Given the description of an element on the screen output the (x, y) to click on. 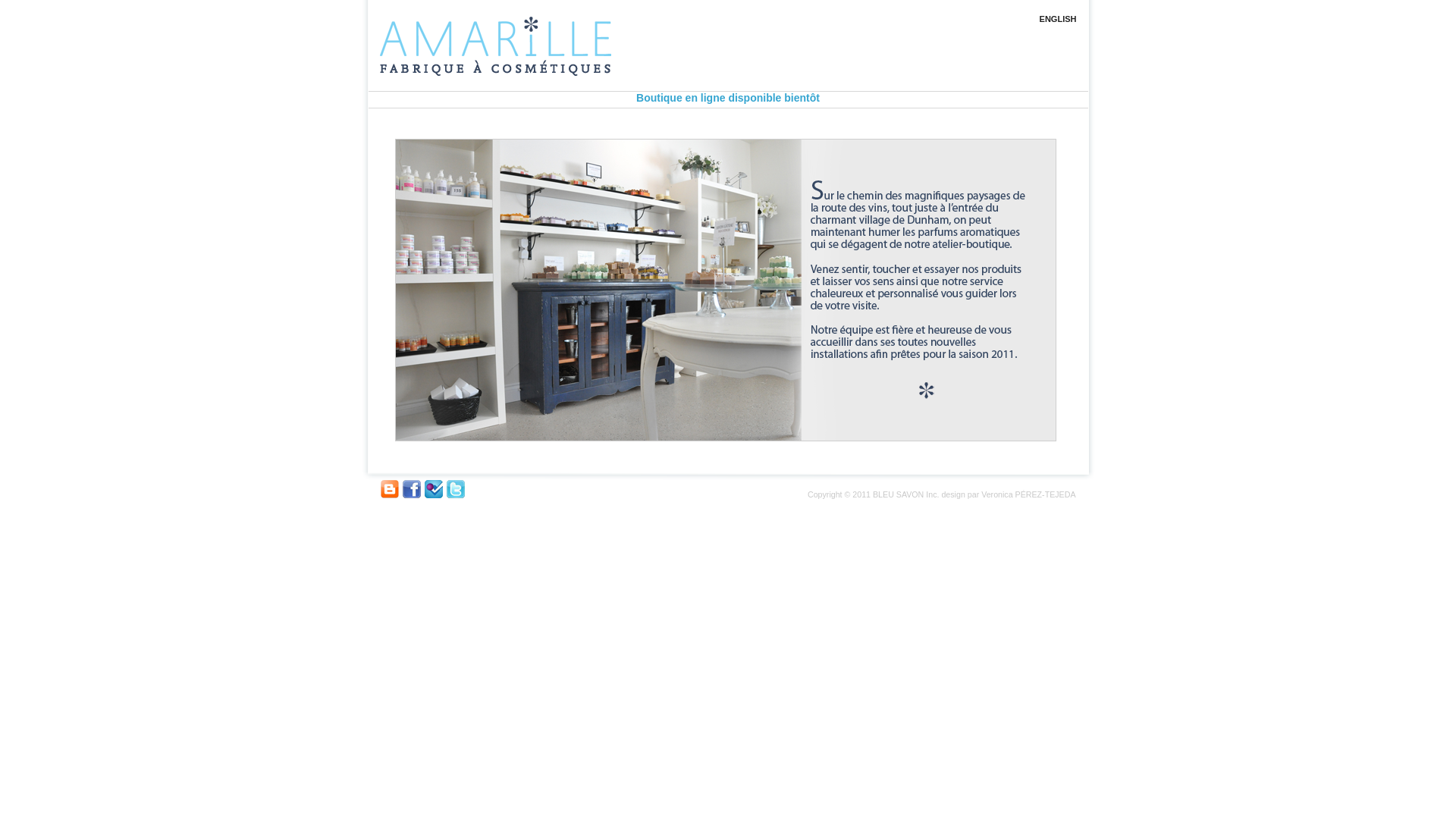
Foursquare Element type: hover (433, 489)
Blog Amarille Element type: hover (389, 489)
Facebook Element type: hover (410, 489)
Twitter Element type: hover (454, 489)
ENGLISH Element type: text (1057, 18)
